Given the description of an element on the screen output the (x, y) to click on. 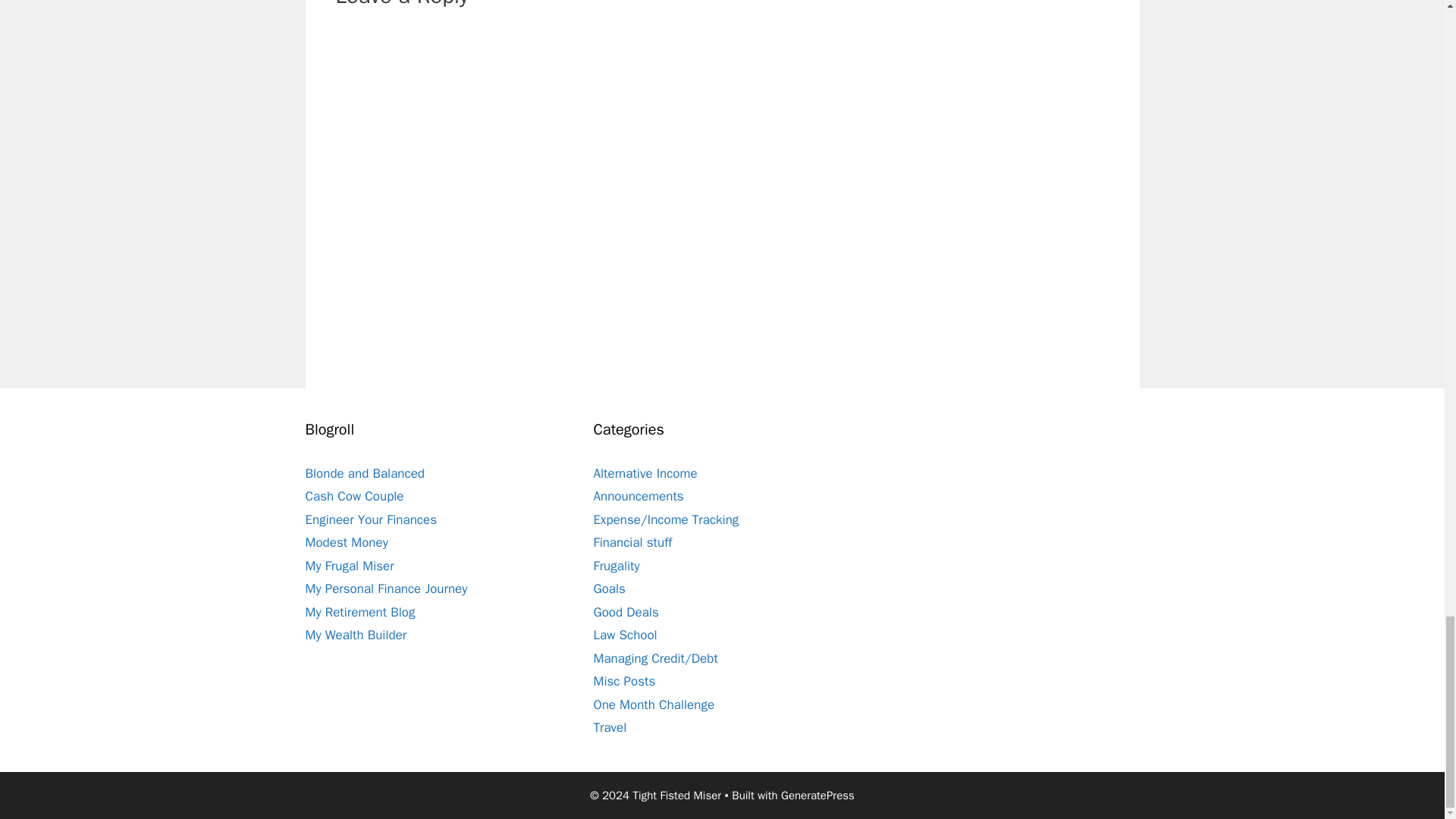
Engineer Your Finances (370, 519)
Modest Money (345, 542)
Blonde and Balanced (364, 473)
Cash Cow Couple (353, 496)
